Given the description of an element on the screen output the (x, y) to click on. 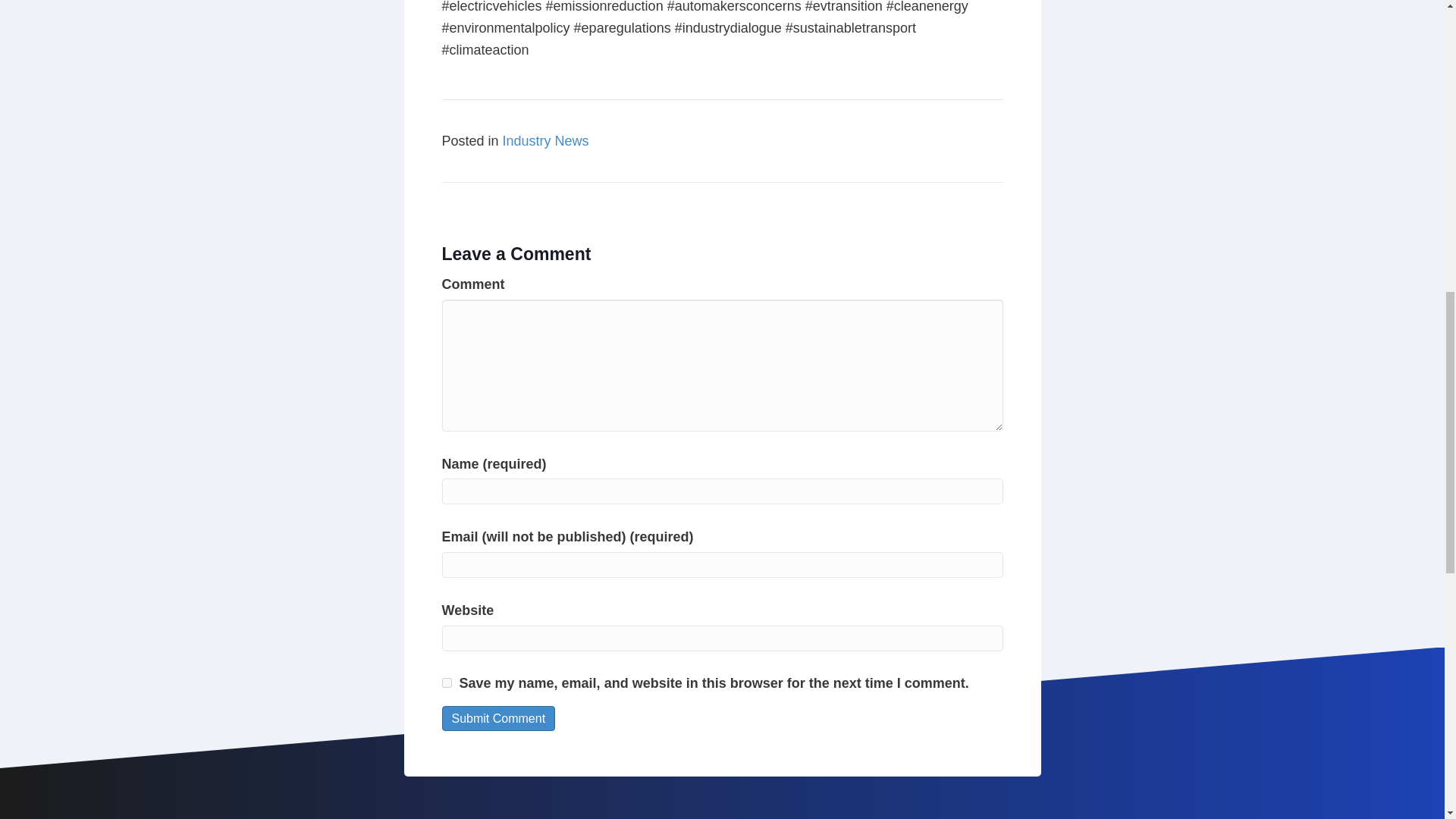
Industry News (545, 140)
yes (446, 682)
Submit Comment (497, 718)
Submit Comment (497, 718)
